Given the description of an element on the screen output the (x, y) to click on. 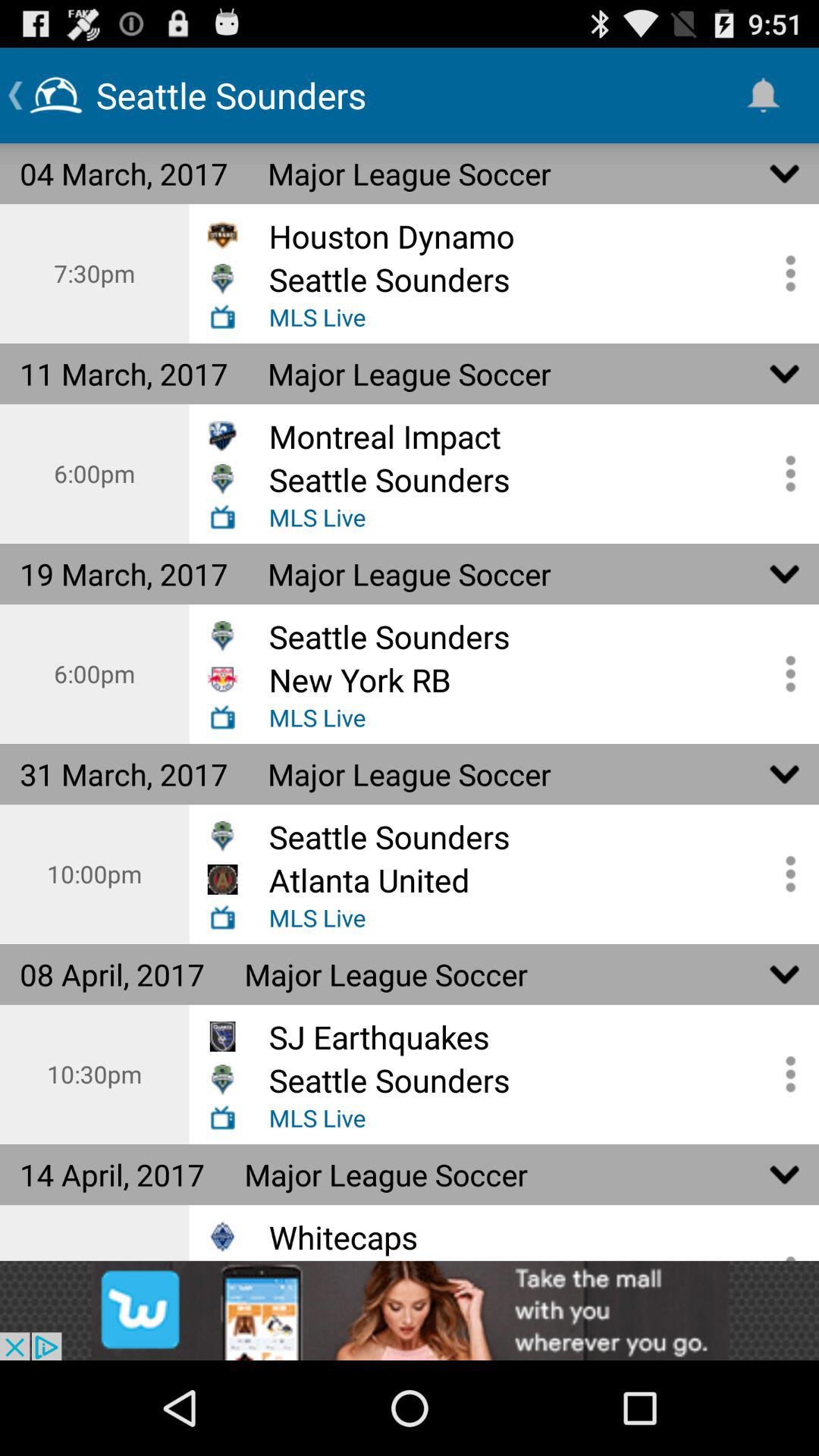
menu (785, 1074)
